Given the description of an element on the screen output the (x, y) to click on. 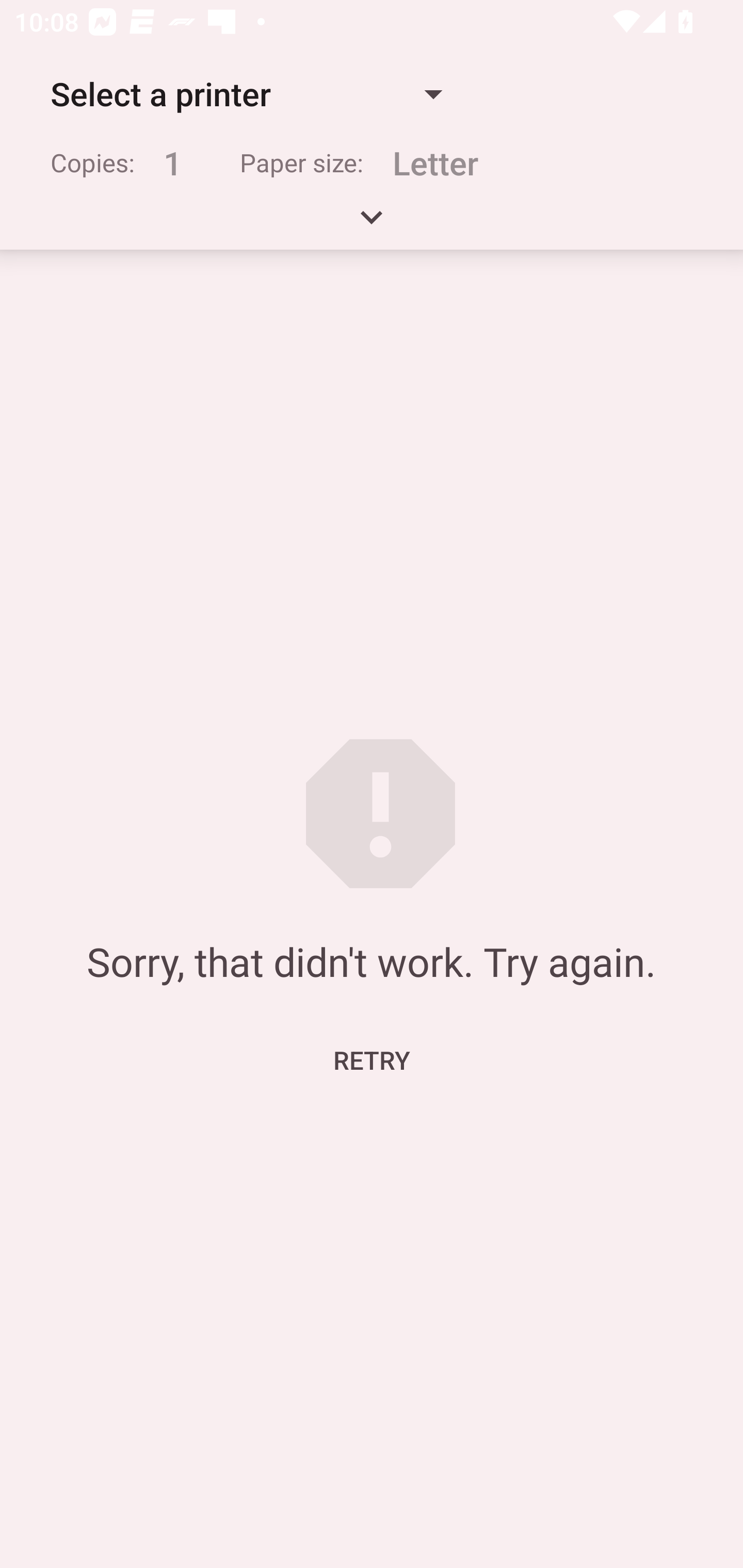
Select a printer (245, 93)
Expand handle (371, 224)
RETRY (371, 1059)
